Given the description of an element on the screen output the (x, y) to click on. 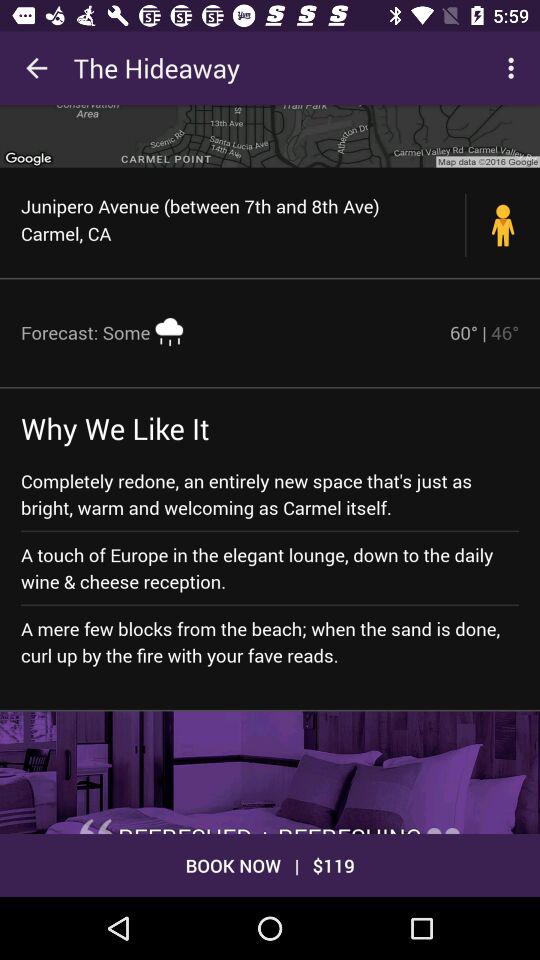
select the icon to the right of the junipero avenue between (503, 224)
